Given the description of an element on the screen output the (x, y) to click on. 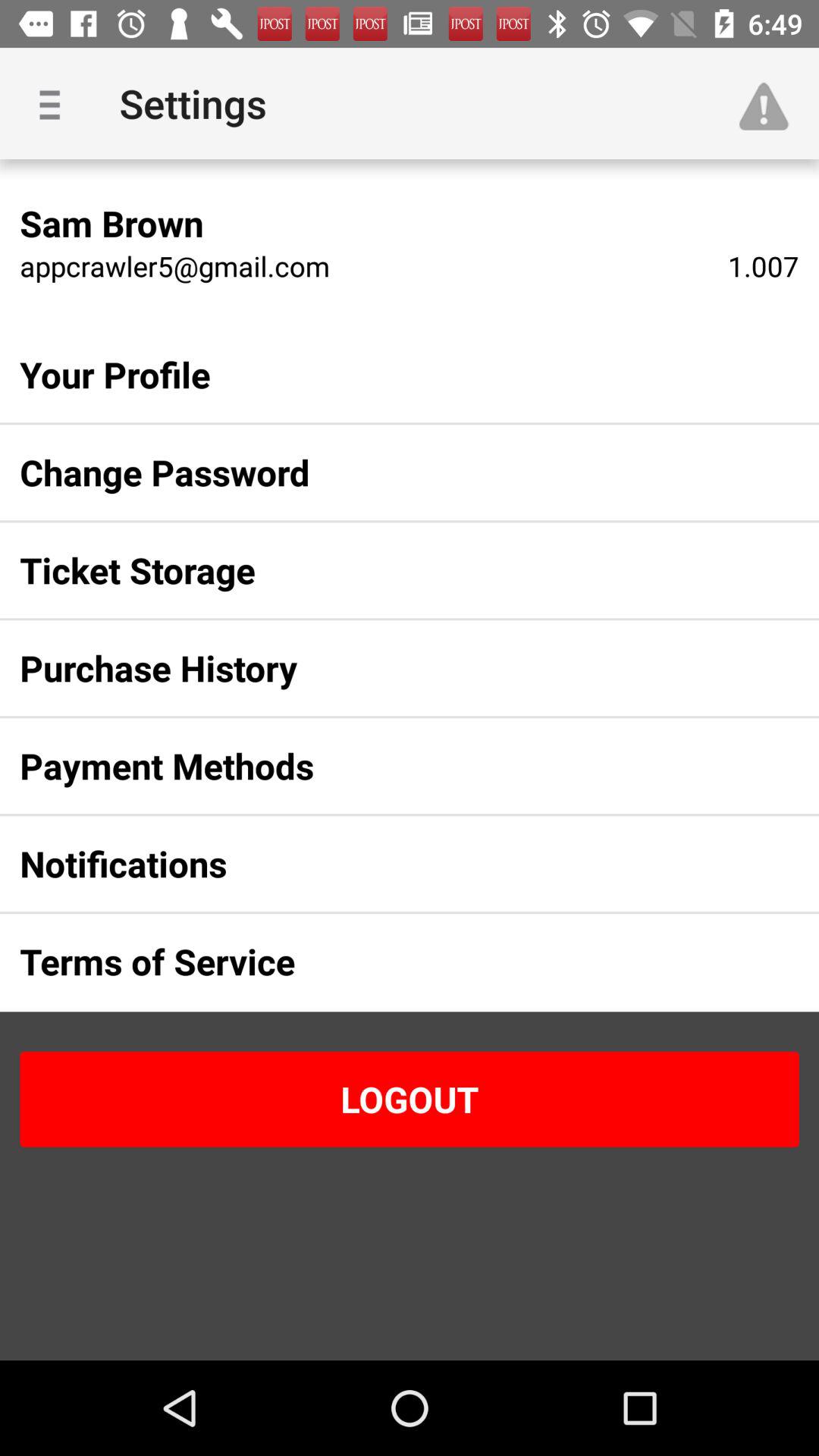
flip until payment methods (385, 765)
